Given the description of an element on the screen output the (x, y) to click on. 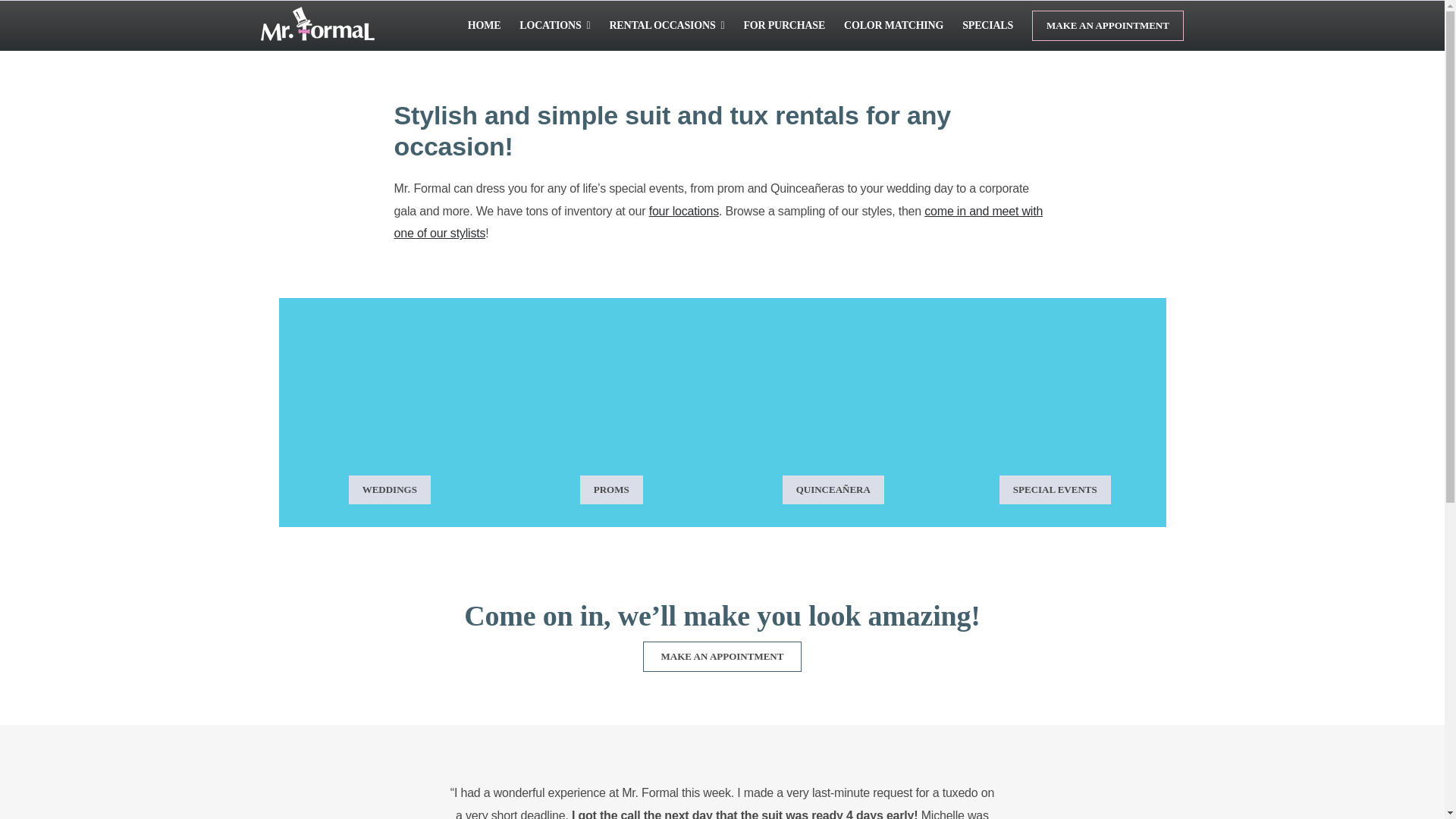
HOME (483, 25)
FOR PURCHASE (783, 25)
COLOR MATCHING (893, 25)
SPECIALS (987, 25)
RENTAL OCCASIONS (665, 25)
LOCATIONS (554, 25)
MAKE AN APPOINTMENT (1107, 25)
